Given the description of an element on the screen output the (x, y) to click on. 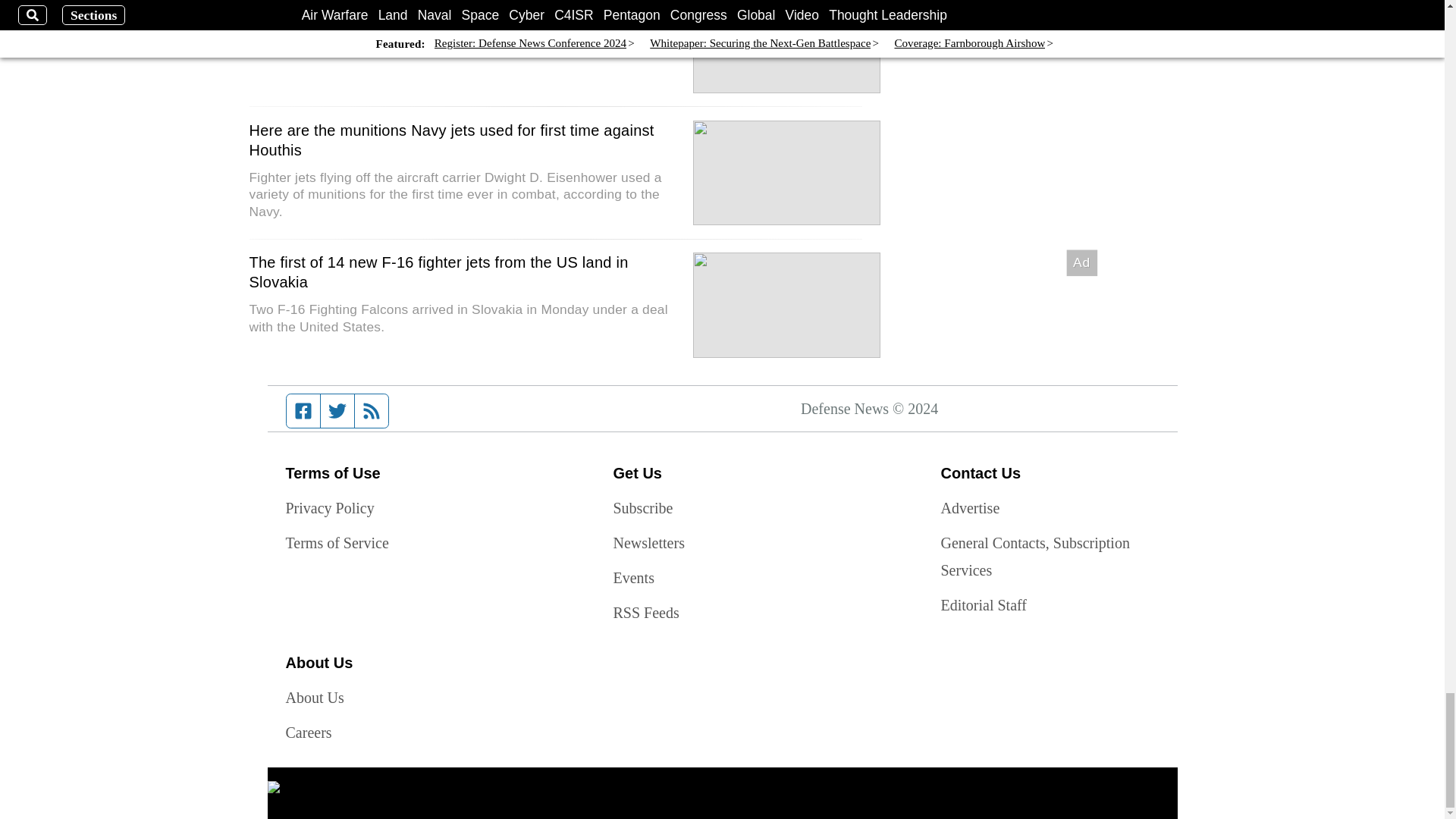
Facebook page (303, 410)
RSS feed (371, 410)
Twitter feed (336, 410)
